Given the description of an element on the screen output the (x, y) to click on. 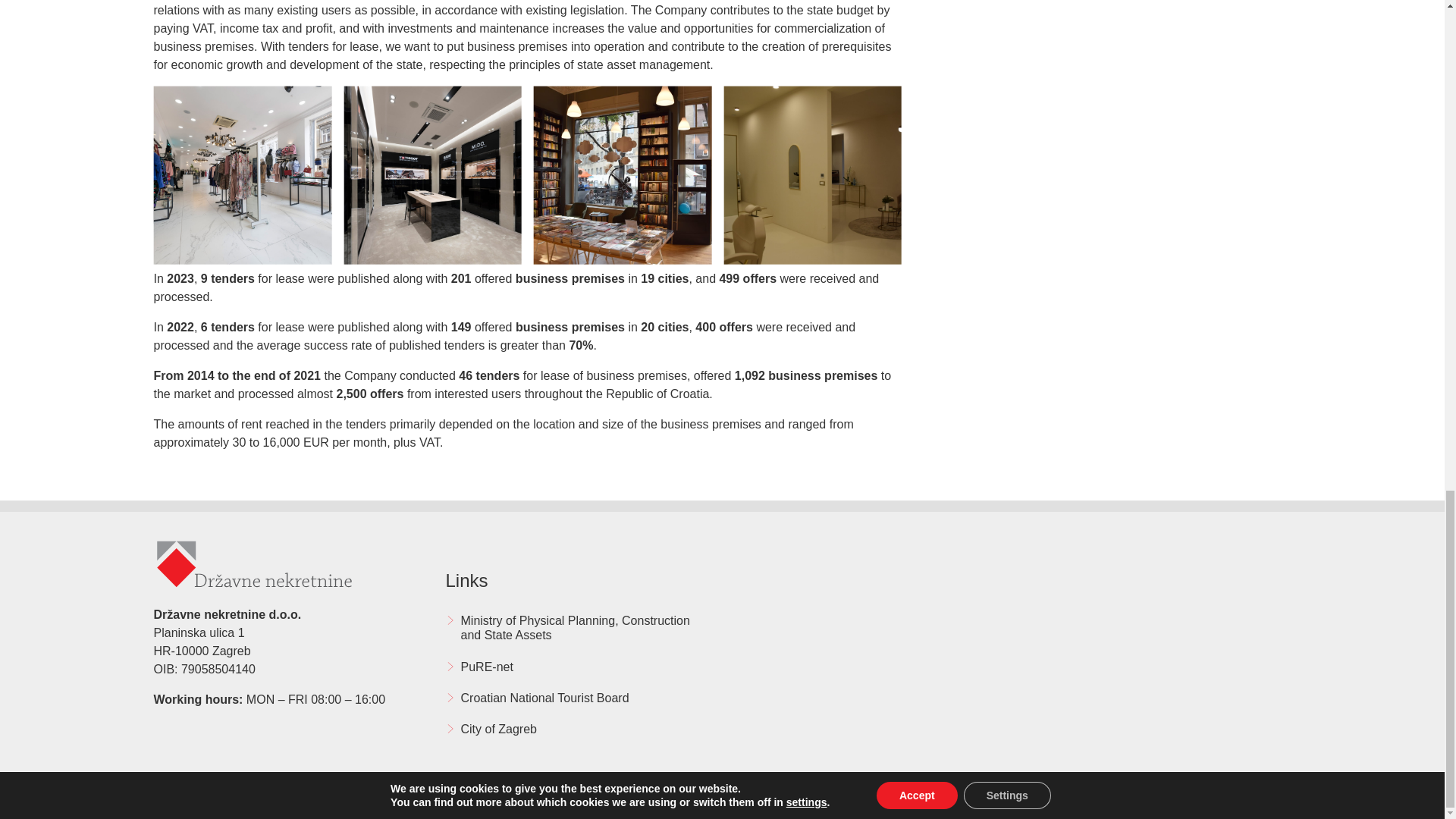
Ministry of Physical Planning, Construction and State Assets (576, 627)
Play Digital (1267, 796)
PuRE-net (576, 666)
Kneza-Mislava-Fraktura (622, 175)
City of Zagreb (576, 728)
Croatian National Tourist Board (576, 697)
Privacy policy (180, 796)
